Given the description of an element on the screen output the (x, y) to click on. 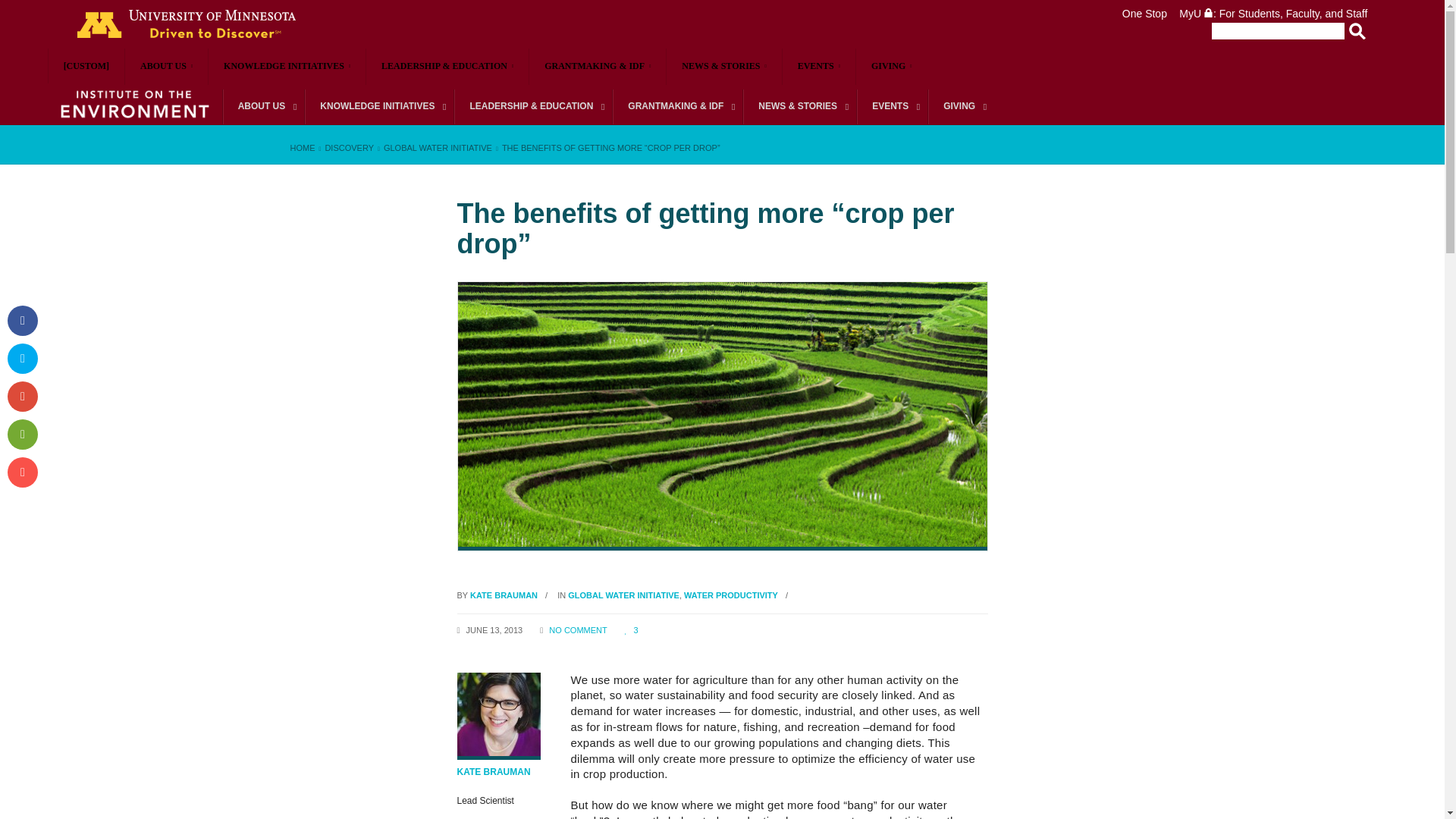
One Stop (1144, 13)
Search Websites and People (1272, 30)
MyU : For Students, Faculty, and Staff (1273, 13)
